Given the description of an element on the screen output the (x, y) to click on. 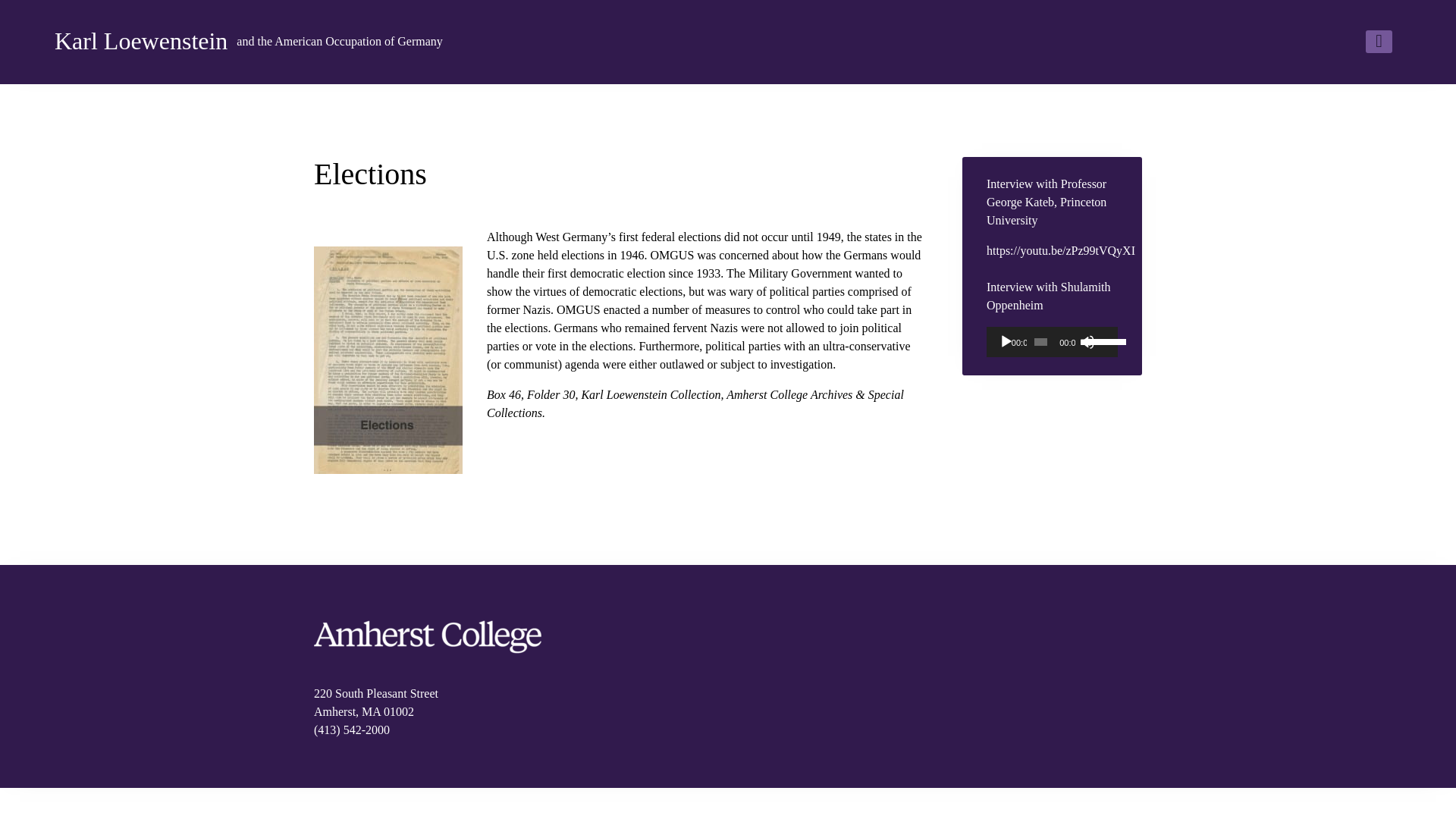
Karl Loewenstein (141, 41)
Play (1005, 341)
TOGGLE SEARCH INTERFACE (1378, 41)
Mute (1087, 341)
Karl Loewenstein  (338, 41)
Karl Loewenstein  (141, 41)
and the American Occupation of Germany (338, 41)
